Given the description of an element on the screen output the (x, y) to click on. 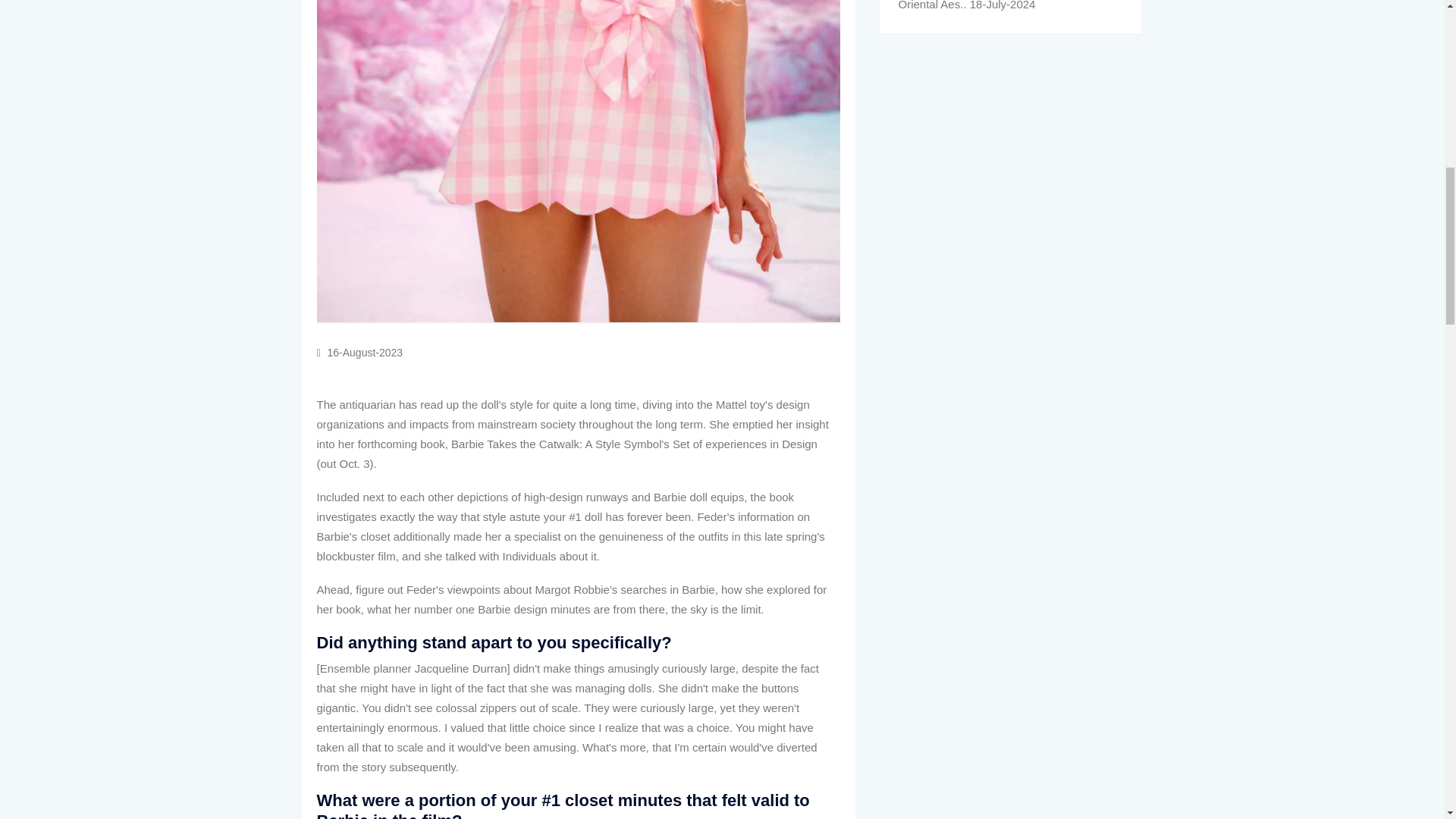
Aggressive Beauty Brand, QIANYA Leads Oriental Aes.. (1003, 5)
